Given the description of an element on the screen output the (x, y) to click on. 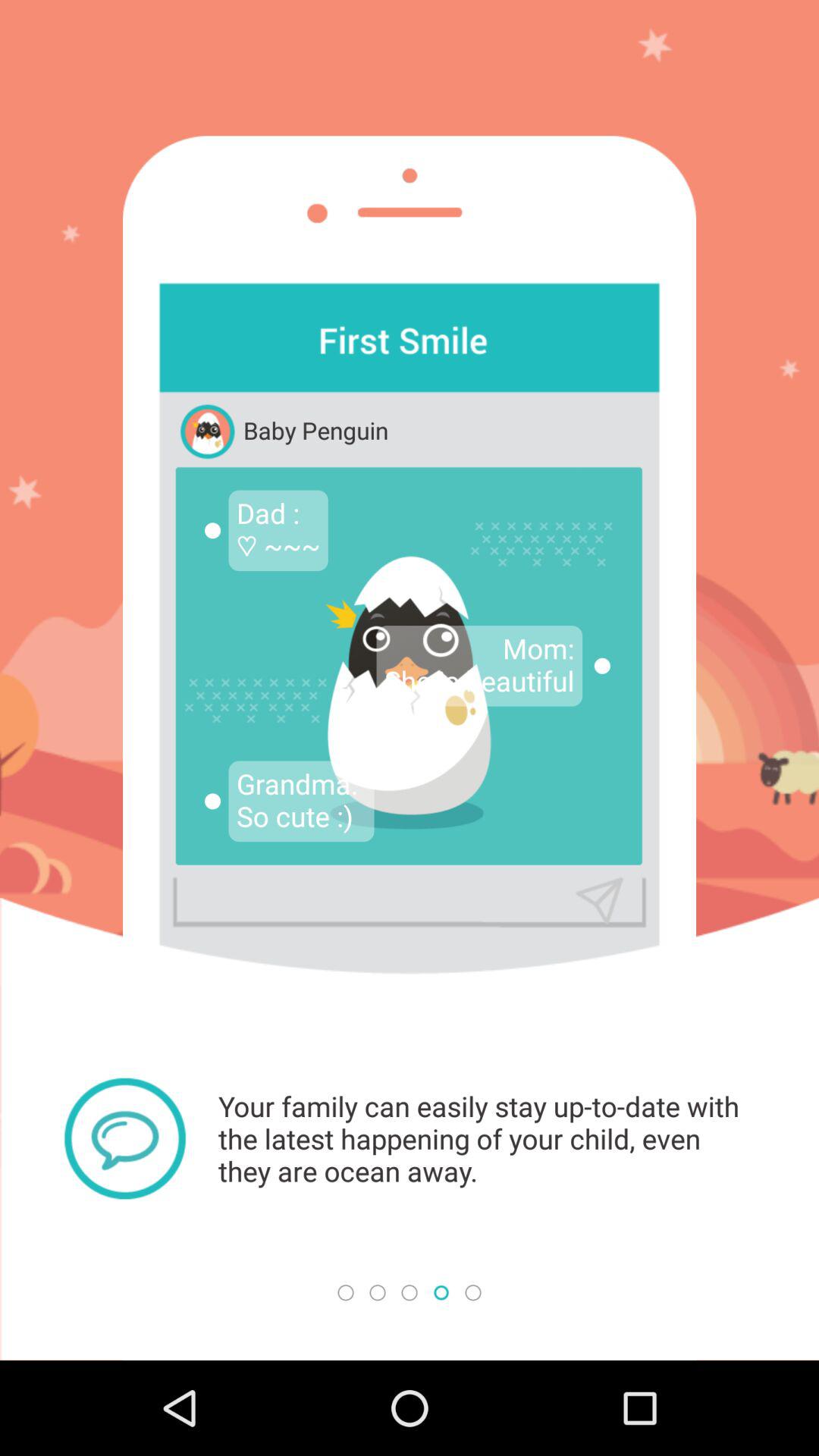
click on send icon (599, 901)
the dot shown next to the text field mom (602, 666)
click on the button which is left side of dad (212, 530)
click on third circle at the bottom of the page (409, 1292)
click on the fourth circle at the bottom of the page (441, 1292)
click the 5th small circle at the bottom of the page (473, 1292)
click on the fourth dot from left at bottom of the page (441, 1292)
click on the third dot from left at the bottom of the page (409, 1292)
